Given the description of an element on the screen output the (x, y) to click on. 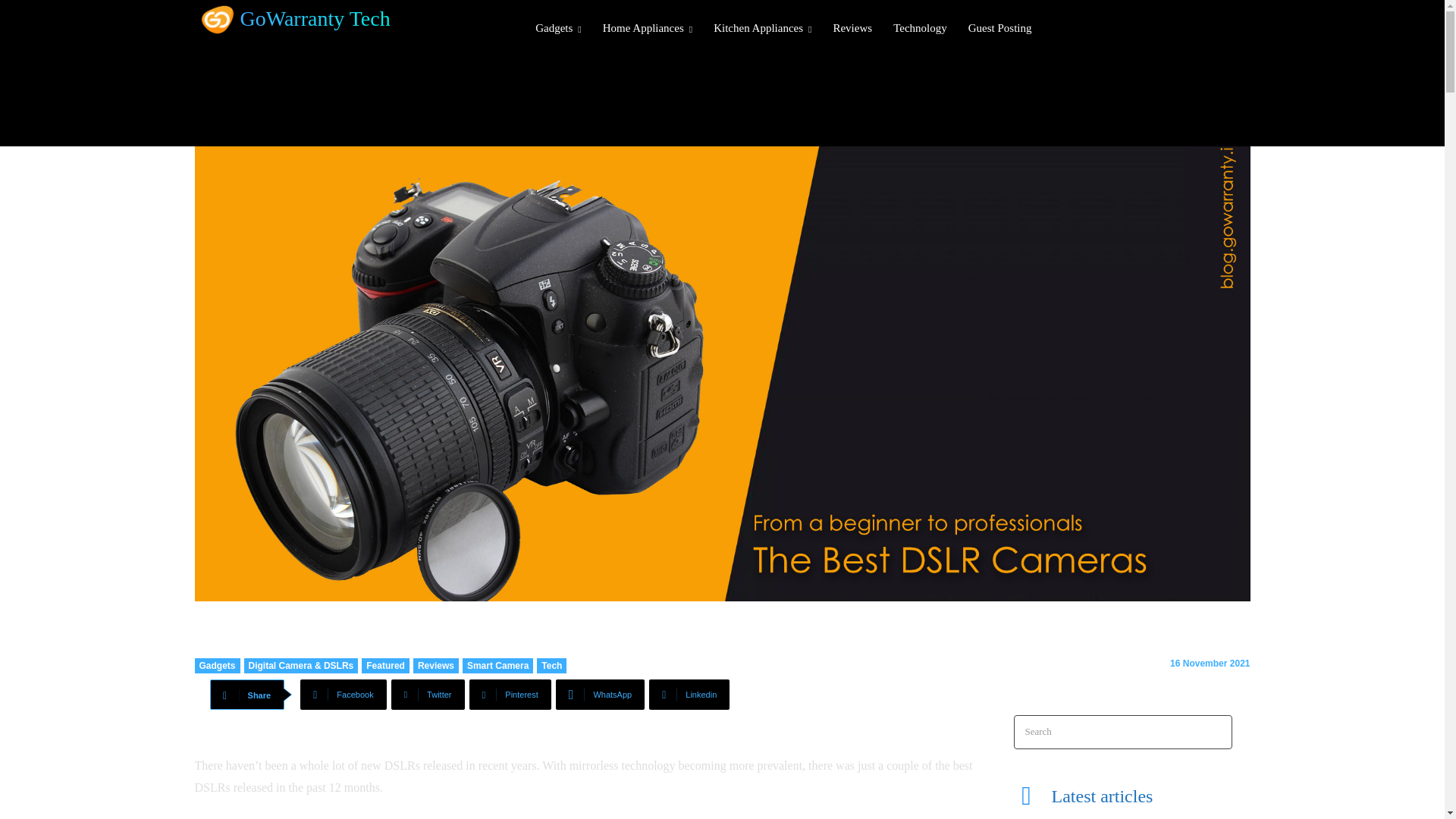
Twitter (427, 694)
Linkedin (689, 694)
WhatsApp (600, 694)
Pinterest (509, 694)
Facebook (343, 694)
